Given the description of an element on the screen output the (x, y) to click on. 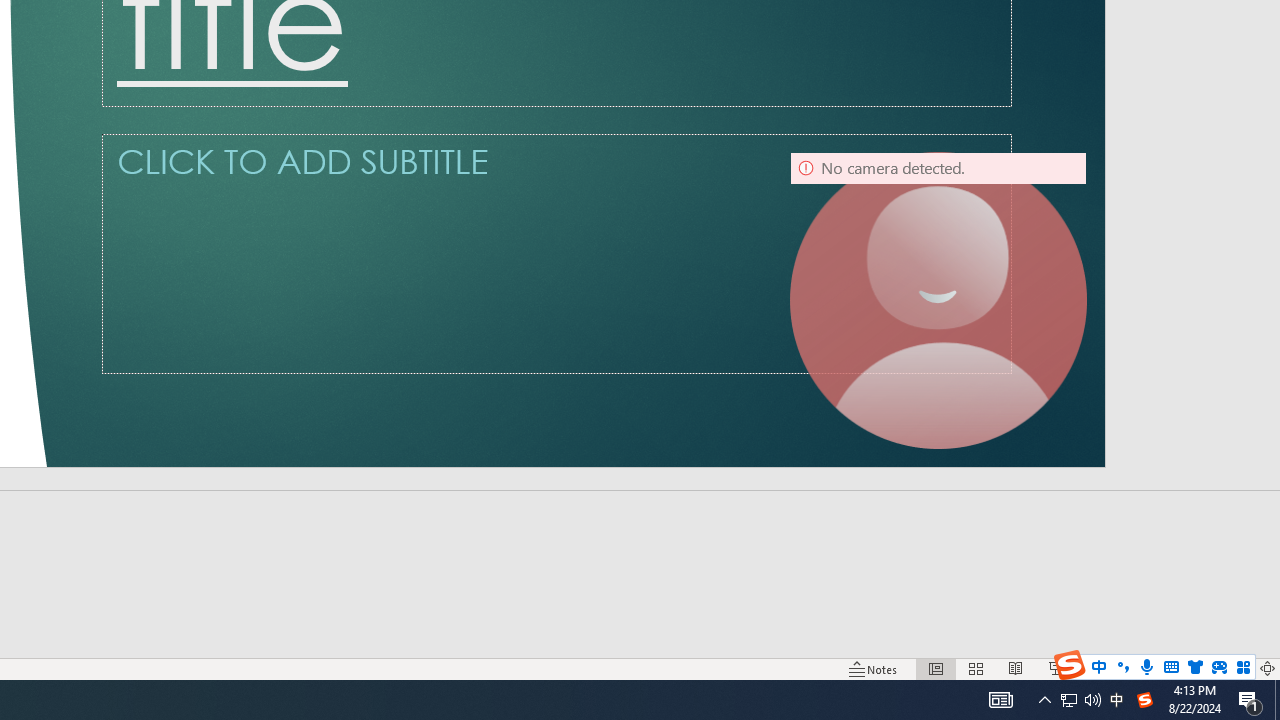
Zoom 140% (1234, 668)
